Given the description of an element on the screen output the (x, y) to click on. 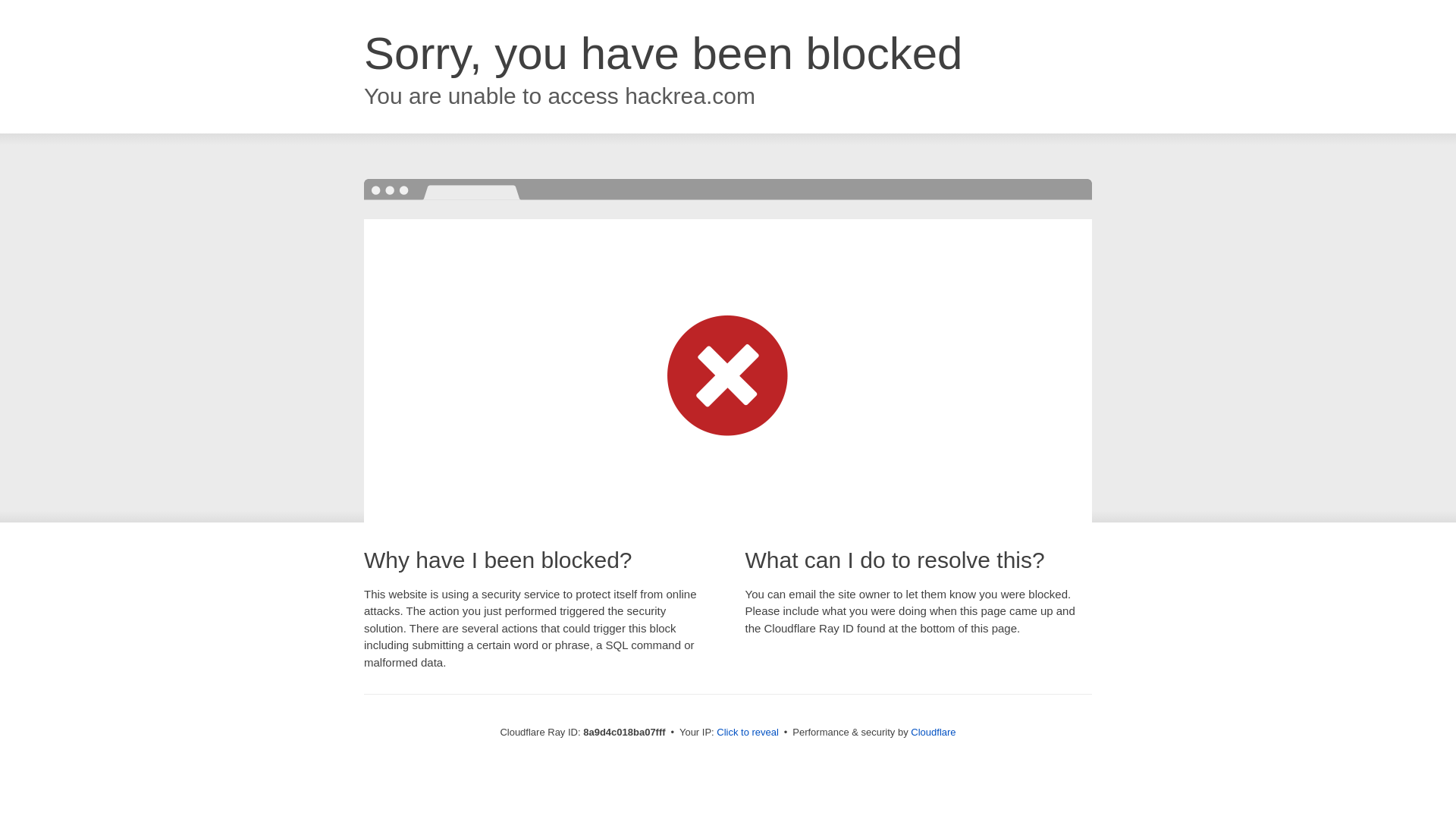
Click to reveal (747, 732)
Cloudflare (933, 731)
